Given the description of an element on the screen output the (x, y) to click on. 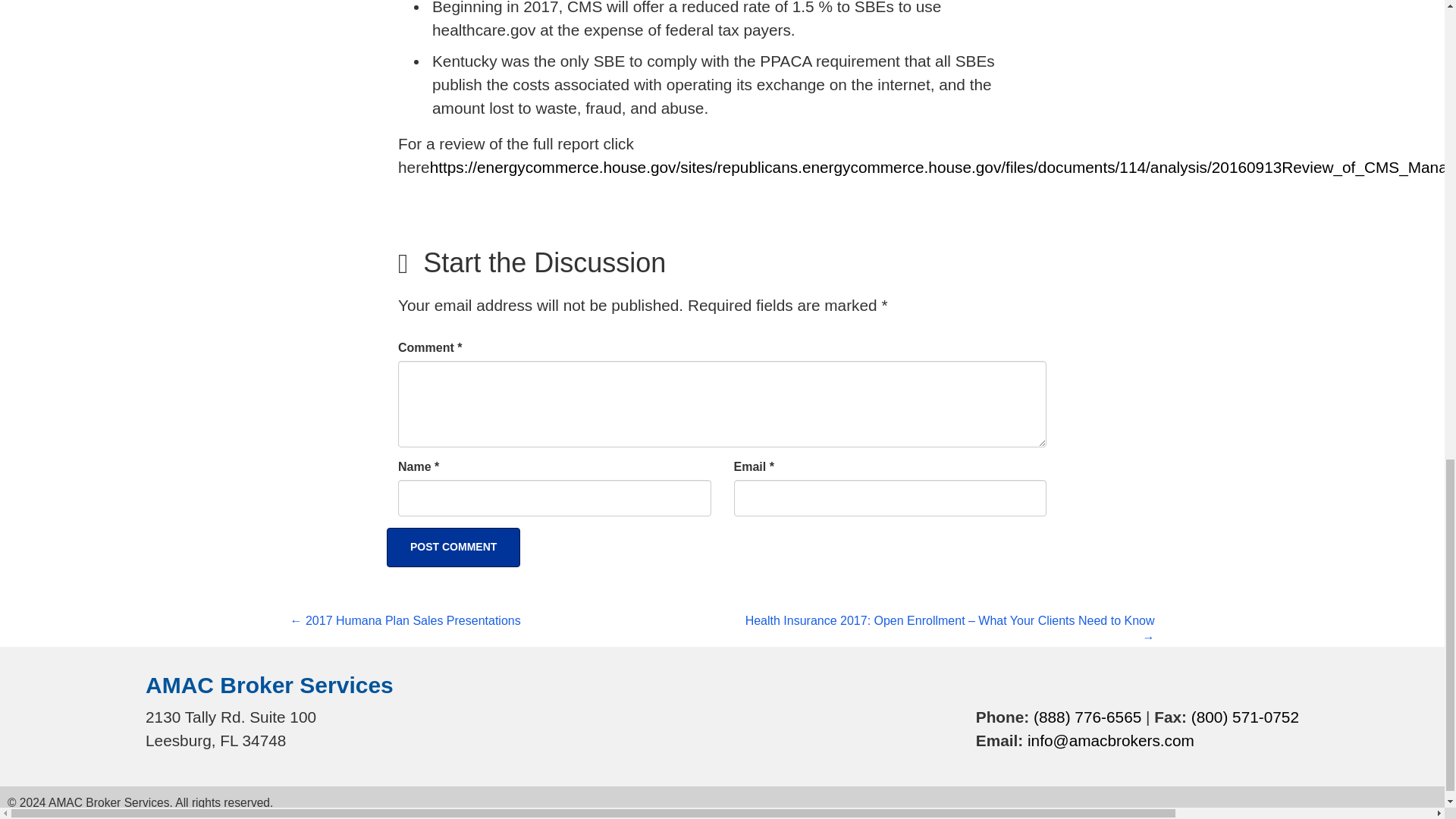
Post Comment (453, 547)
Post Comment (453, 547)
